Given the description of an element on the screen output the (x, y) to click on. 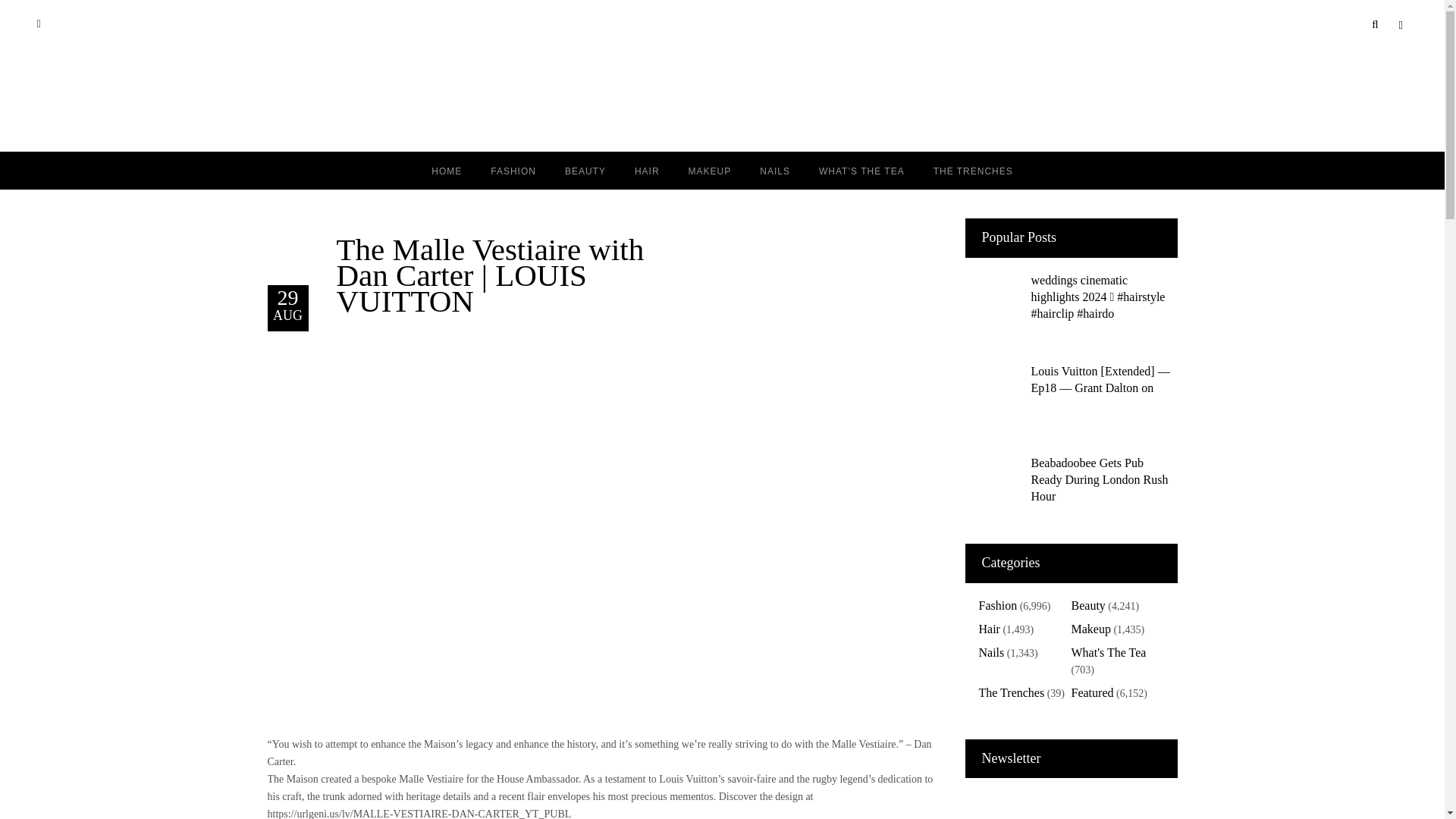
BEAUTY (585, 170)
MAKEUP (709, 170)
HOME (446, 170)
FASHION (513, 170)
THE TRENCHES (972, 170)
HAIR (647, 170)
NAILS (775, 170)
